Given the description of an element on the screen output the (x, y) to click on. 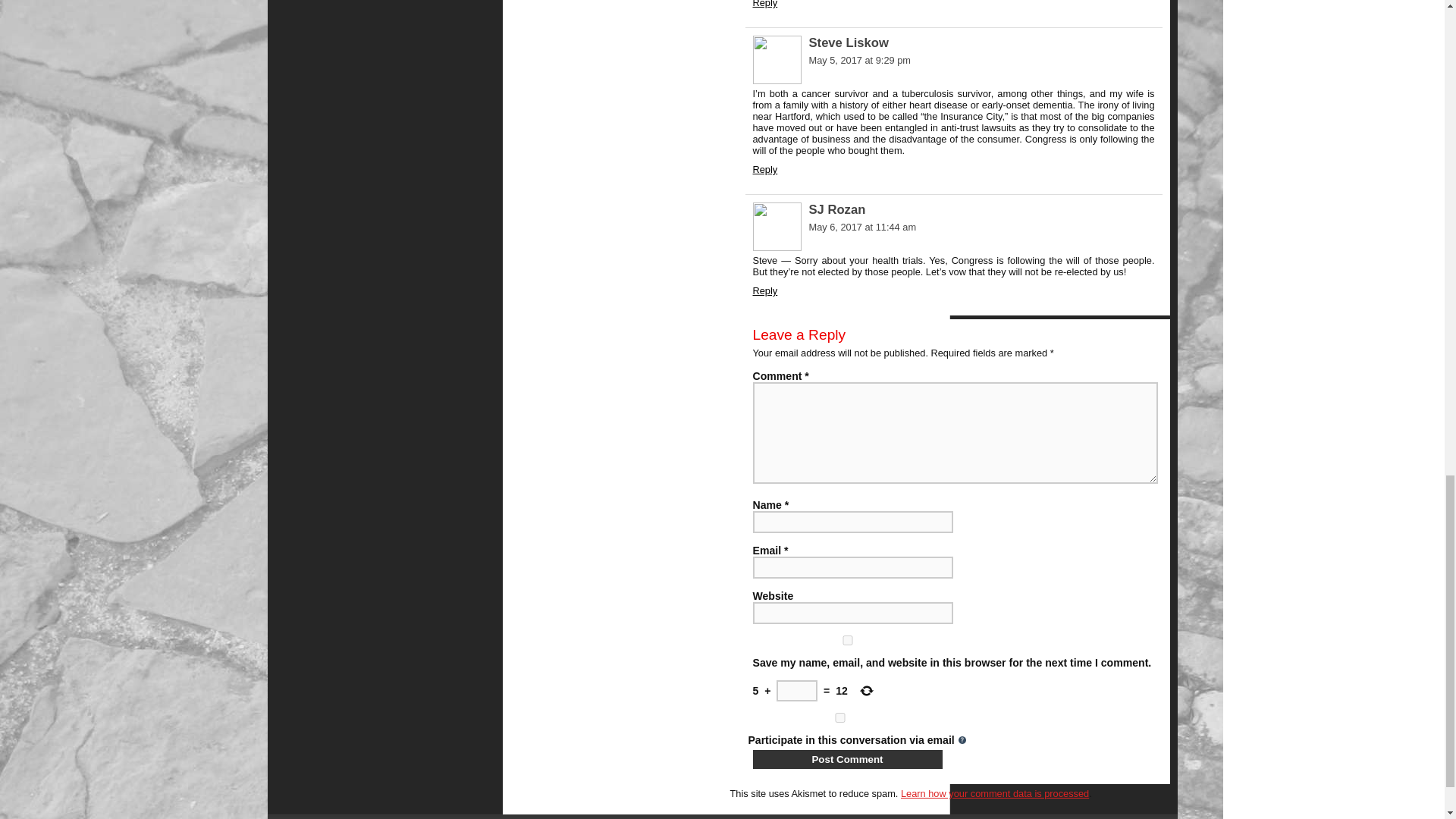
Post Comment (847, 759)
yes (847, 640)
1 (839, 717)
